Given the description of an element on the screen output the (x, y) to click on. 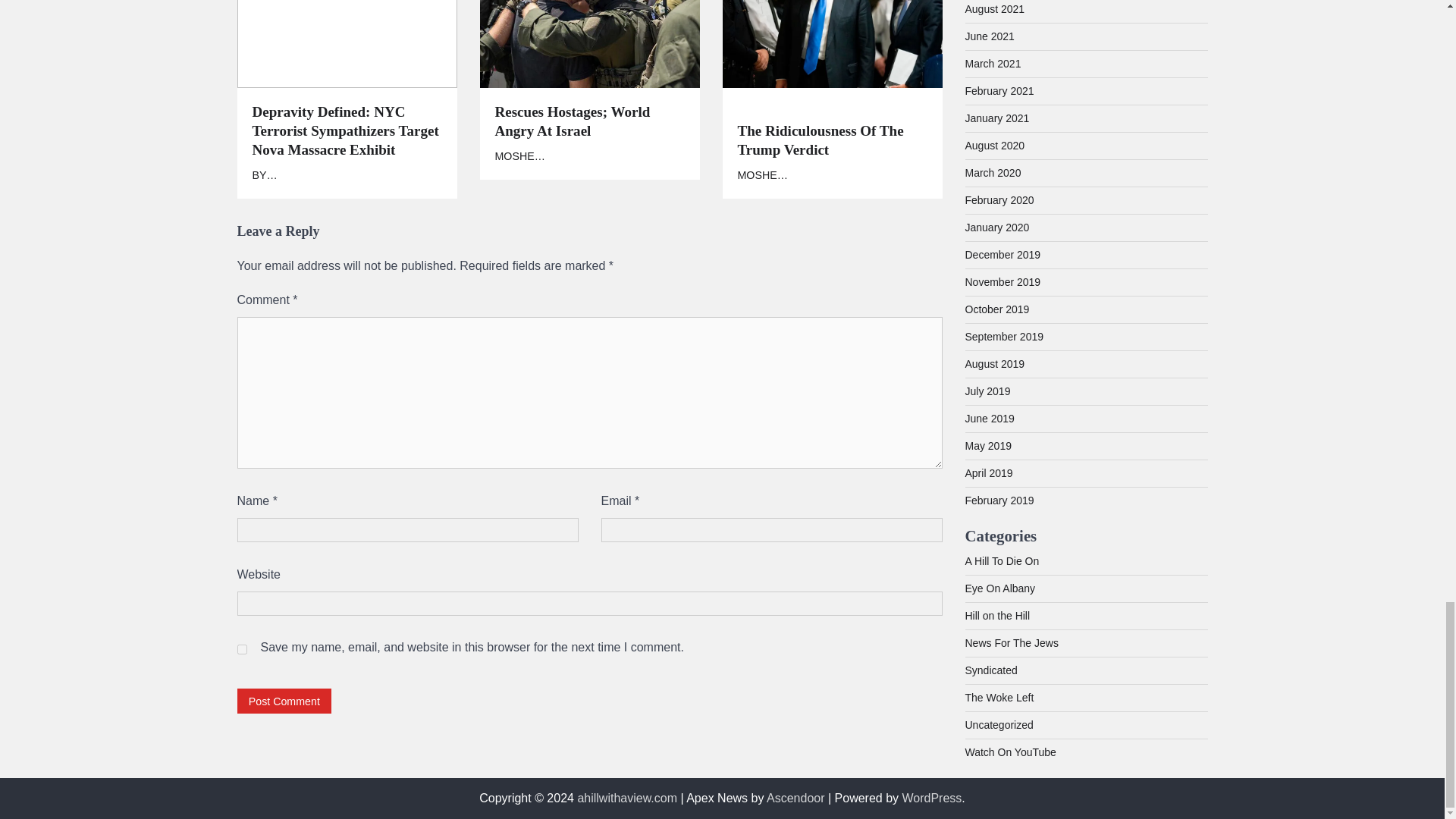
Rescues Hostages; World Angry At Israel (589, 121)
Post Comment (283, 700)
Post Comment (283, 700)
yes (240, 649)
The Ridiculousness Of The Trump Verdict (831, 130)
